Given the description of an element on the screen output the (x, y) to click on. 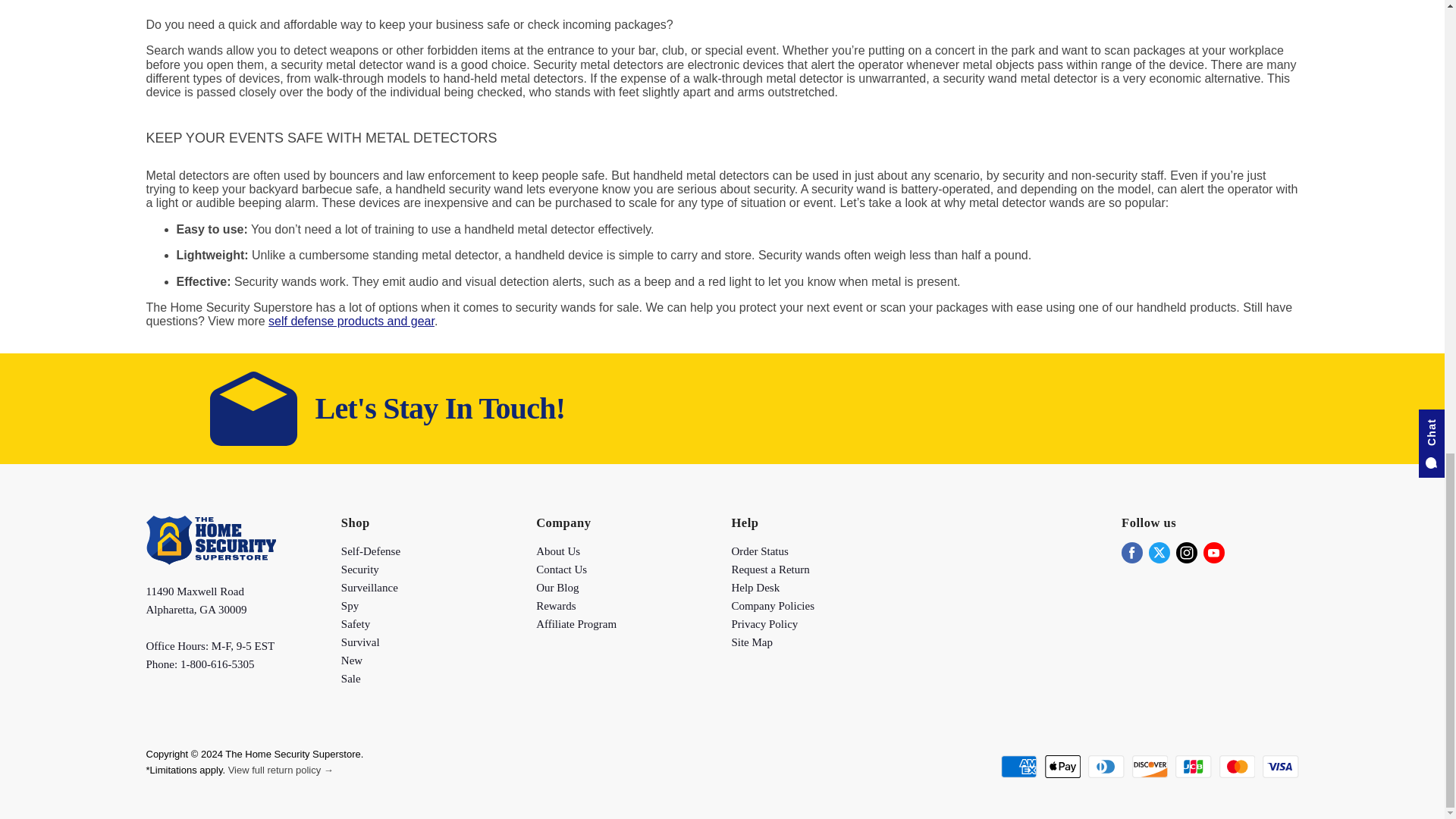
Instagram (1186, 552)
The Home Security Superstore (210, 561)
Twitter (1159, 552)
Youtube (1213, 552)
Facebook (1131, 552)
self defense products and gear (350, 320)
